Given the description of an element on the screen output the (x, y) to click on. 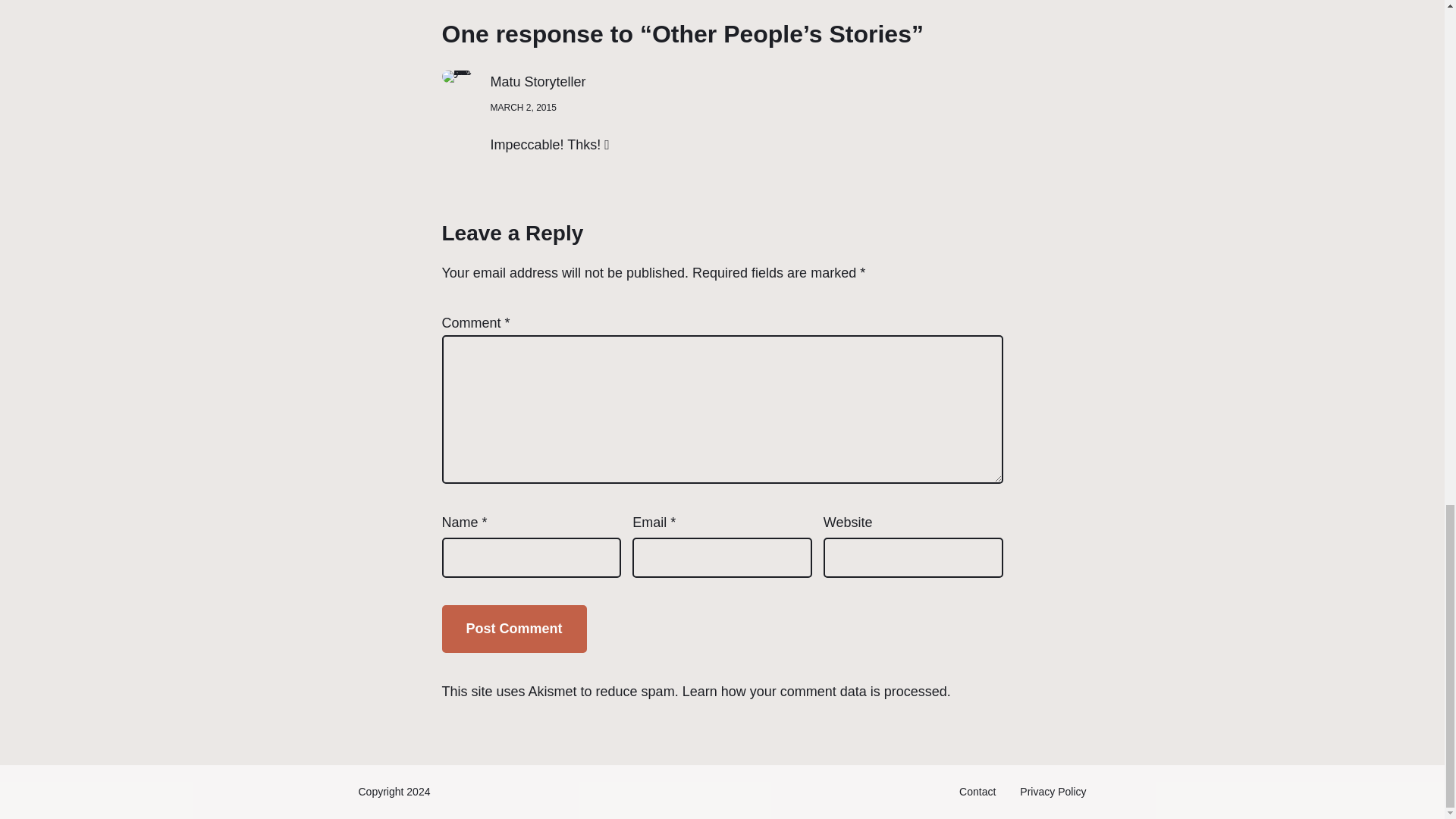
Privacy Policy (1053, 791)
MARCH 2, 2015 (522, 107)
Contact (977, 791)
Post Comment (513, 628)
Matu Storyteller (537, 81)
Post Comment (513, 628)
Learn how your comment data is processed (814, 691)
